Given the description of an element on the screen output the (x, y) to click on. 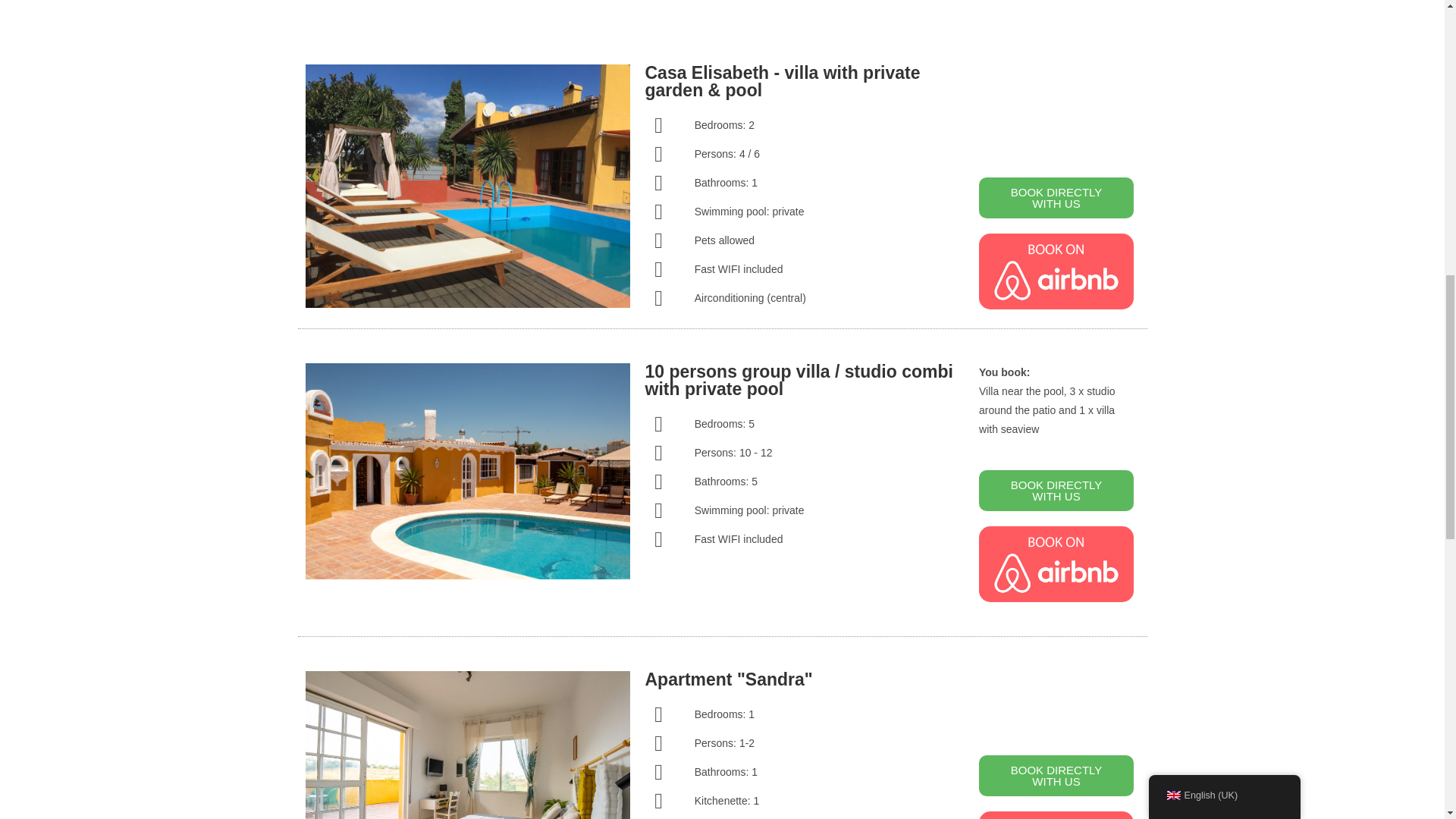
BOOK DIRECTLY WITH US (1056, 490)
BOOK DIRECTLY WITH US (1056, 775)
BOOK DIRECTLY WITH US (1056, 197)
